Given the description of an element on the screen output the (x, y) to click on. 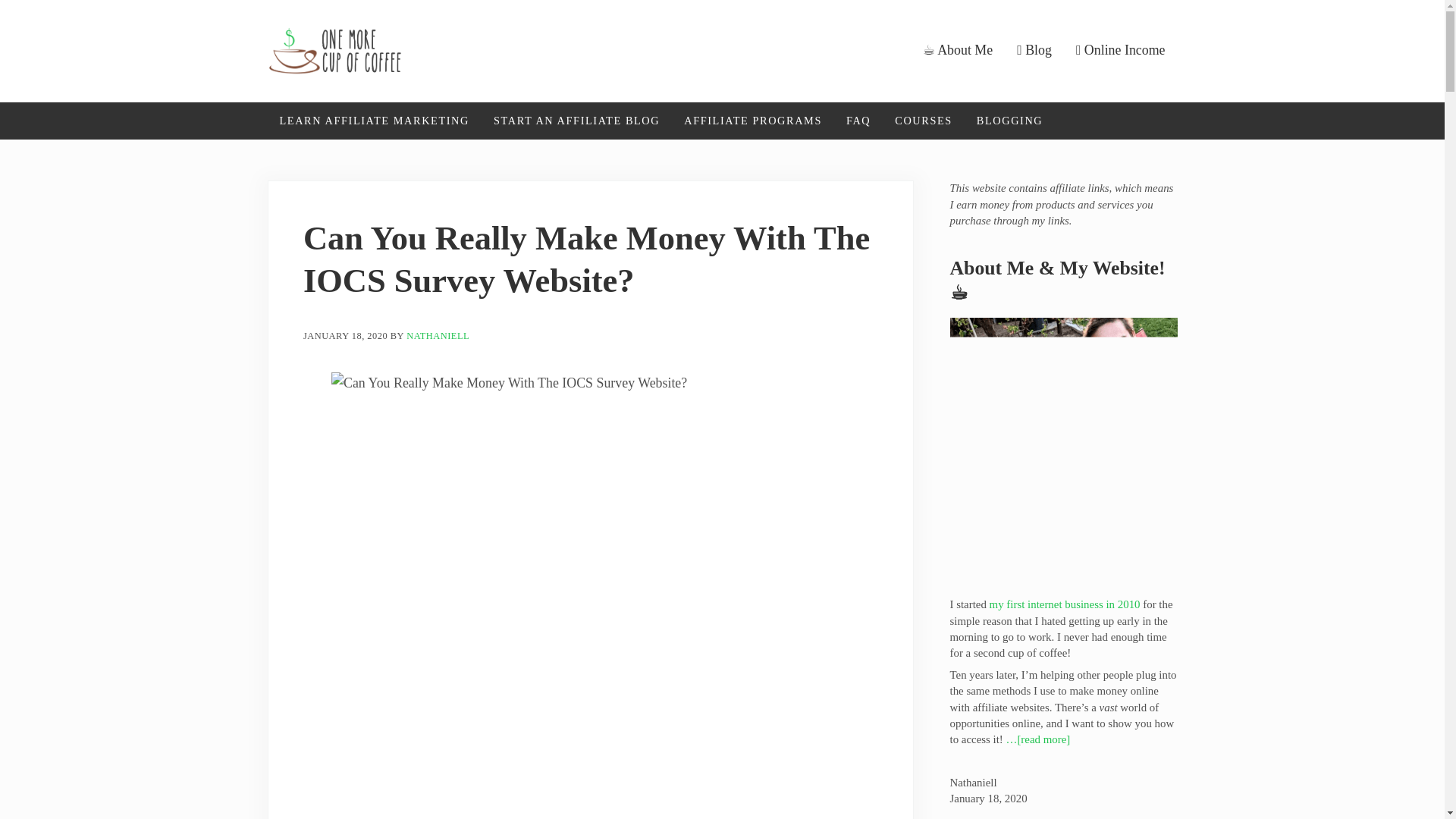
NATHANIELL (437, 336)
One More Cup of Coffee Logo NEW (334, 50)
FAQ (858, 120)
START AN AFFILIATE BLOG (576, 120)
my first internet business in 2010 (1065, 604)
COURSES (922, 120)
AFFILIATE PROGRAMS (752, 120)
LEARN AFFILIATE MARKETING (373, 120)
